Given the description of an element on the screen output the (x, y) to click on. 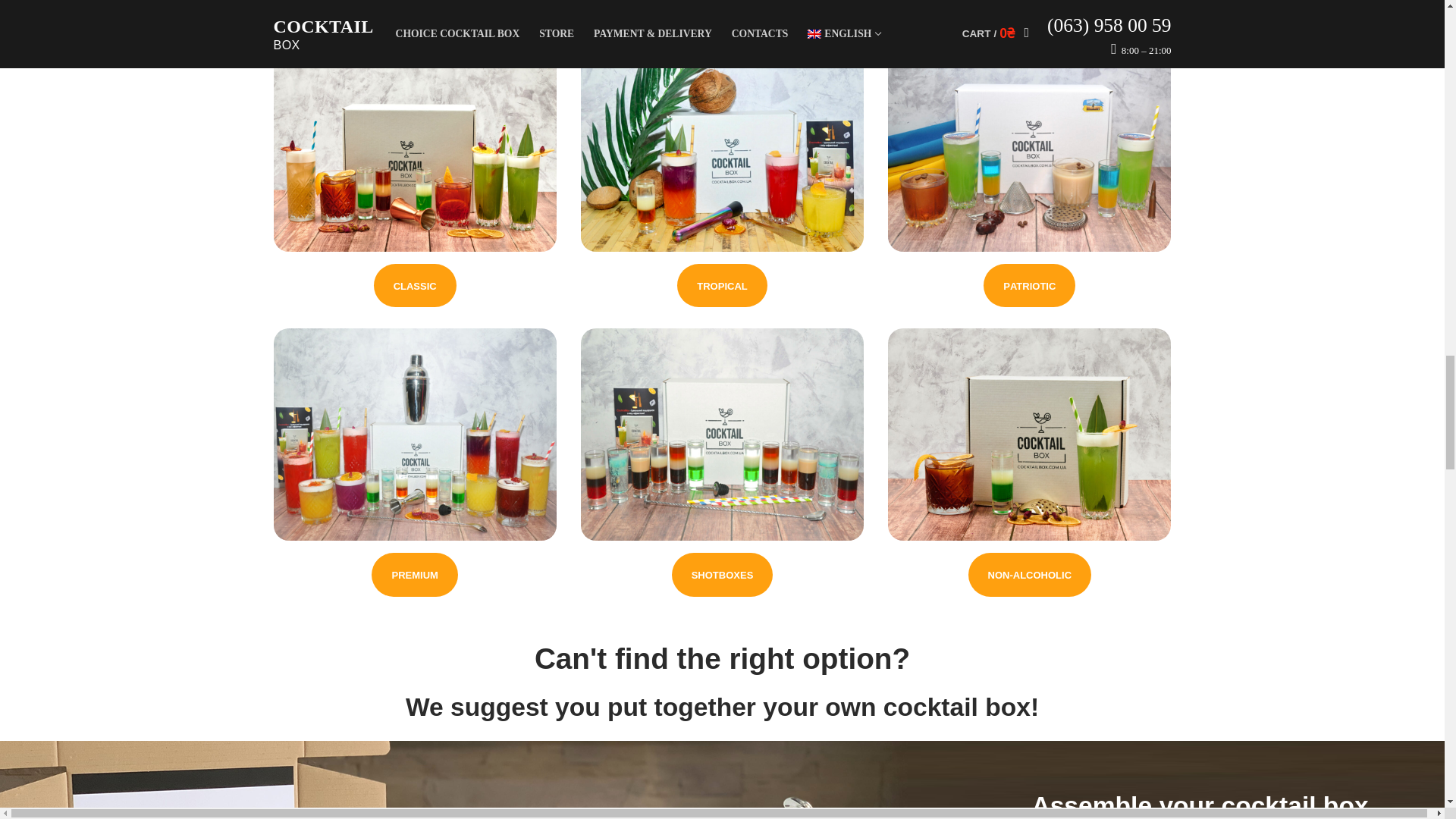
Shotboxes (722, 574)
Tropical (722, 285)
Non-alcoholic (1029, 574)
Patriotic (1029, 285)
Classic (415, 285)
Premium (414, 574)
